Given the description of an element on the screen output the (x, y) to click on. 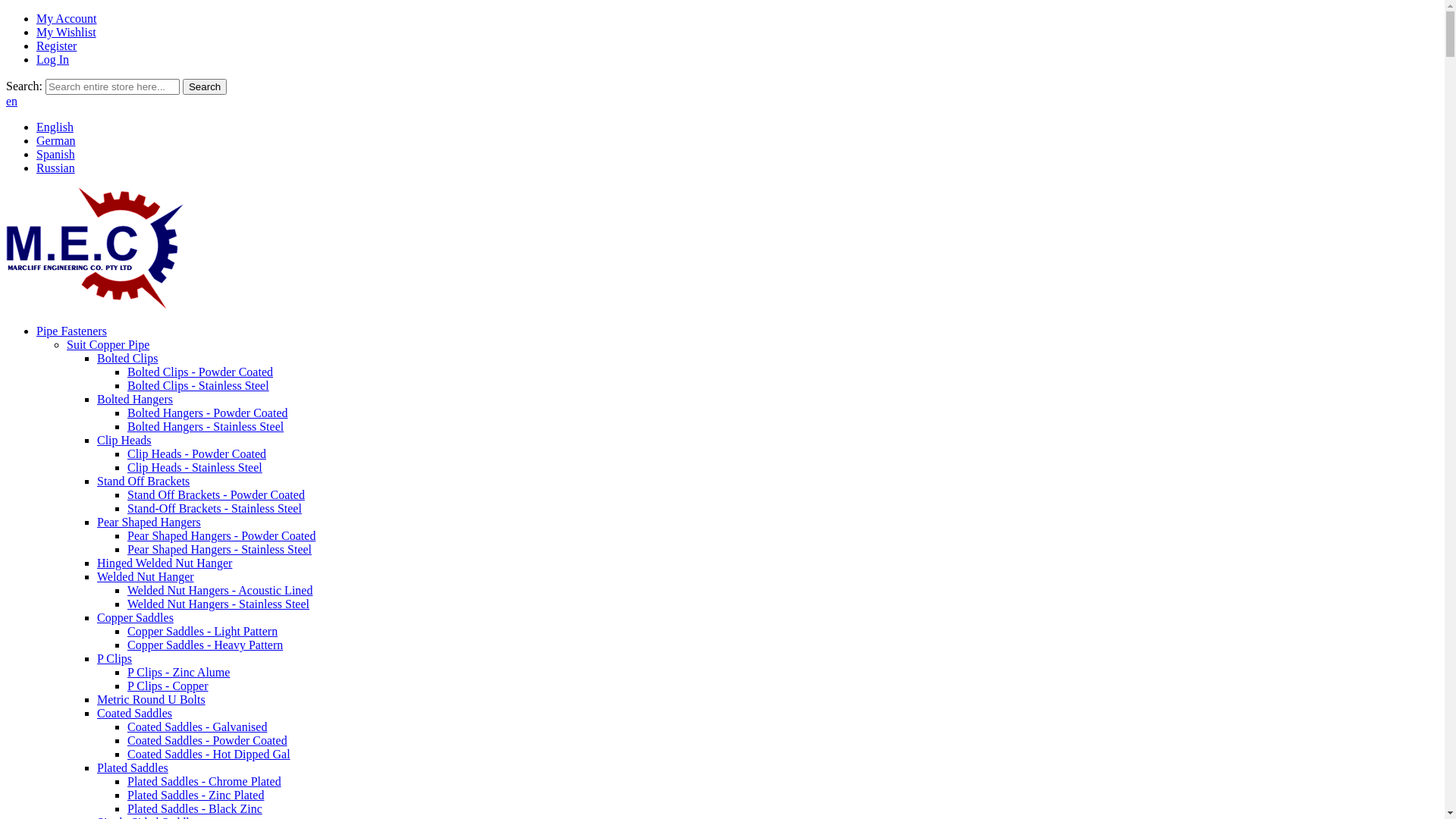
Register Element type: text (56, 45)
My Account Element type: text (66, 18)
en Element type: text (11, 100)
Coated Saddles - Powder Coated Element type: text (207, 740)
Suit Copper Pipe Element type: text (107, 344)
Stand Off Brackets - Powder Coated Element type: text (215, 494)
Stand-Off Brackets - Stainless Steel Element type: text (214, 508)
Copper Saddles - Light Pattern Element type: text (202, 630)
Welded Nut Hangers - Stainless Steel Element type: text (218, 603)
Search Element type: text (204, 86)
Copper Saddles - Heavy Pattern Element type: text (204, 644)
German Element type: text (55, 140)
English Element type: text (54, 126)
Plated Saddles - Zinc Plated Element type: text (195, 794)
Spanish Element type: text (55, 153)
Pear Shaped Hangers - Stainless Steel Element type: text (219, 548)
P Clips Element type: text (114, 658)
Pear Shaped Hangers - Powder Coated Element type: text (221, 535)
Welded Nut Hanger Element type: text (145, 576)
Metric Round U Bolts Element type: text (151, 699)
Bolted Clips - Stainless Steel Element type: text (198, 385)
Bolted Clips - Powder Coated Element type: text (200, 371)
Plated Saddles - Black Zinc Element type: text (194, 808)
Coated Saddles Element type: text (134, 712)
Clip Heads - Powder Coated Element type: text (196, 453)
P Clips - Copper Element type: text (167, 685)
Coated Saddles - Hot Dipped Gal Element type: text (208, 753)
Copper Saddles Element type: text (135, 617)
Hinged Welded Nut Hanger Element type: text (164, 562)
Bolted Hangers - Powder Coated Element type: text (207, 412)
Stand Off Brackets Element type: text (143, 480)
Bolted Clips Element type: text (127, 357)
Bolted Hangers - Stainless Steel Element type: text (205, 426)
Pear Shaped Hangers Element type: text (148, 521)
Bolted Hangers Element type: text (134, 398)
Plated Saddles Element type: text (132, 767)
Welded Nut Hangers - Acoustic Lined Element type: text (219, 589)
Clip Heads - Stainless Steel Element type: text (194, 467)
Plated Saddles - Chrome Plated Element type: text (204, 781)
Log In Element type: text (52, 59)
Clip Heads Element type: text (124, 439)
Russian Element type: text (55, 167)
Coated Saddles - Galvanised Element type: text (196, 726)
P Clips - Zinc Alume Element type: text (178, 671)
My Wishlist Element type: text (66, 31)
Pipe Fasteners Element type: text (71, 330)
